Given the description of an element on the screen output the (x, y) to click on. 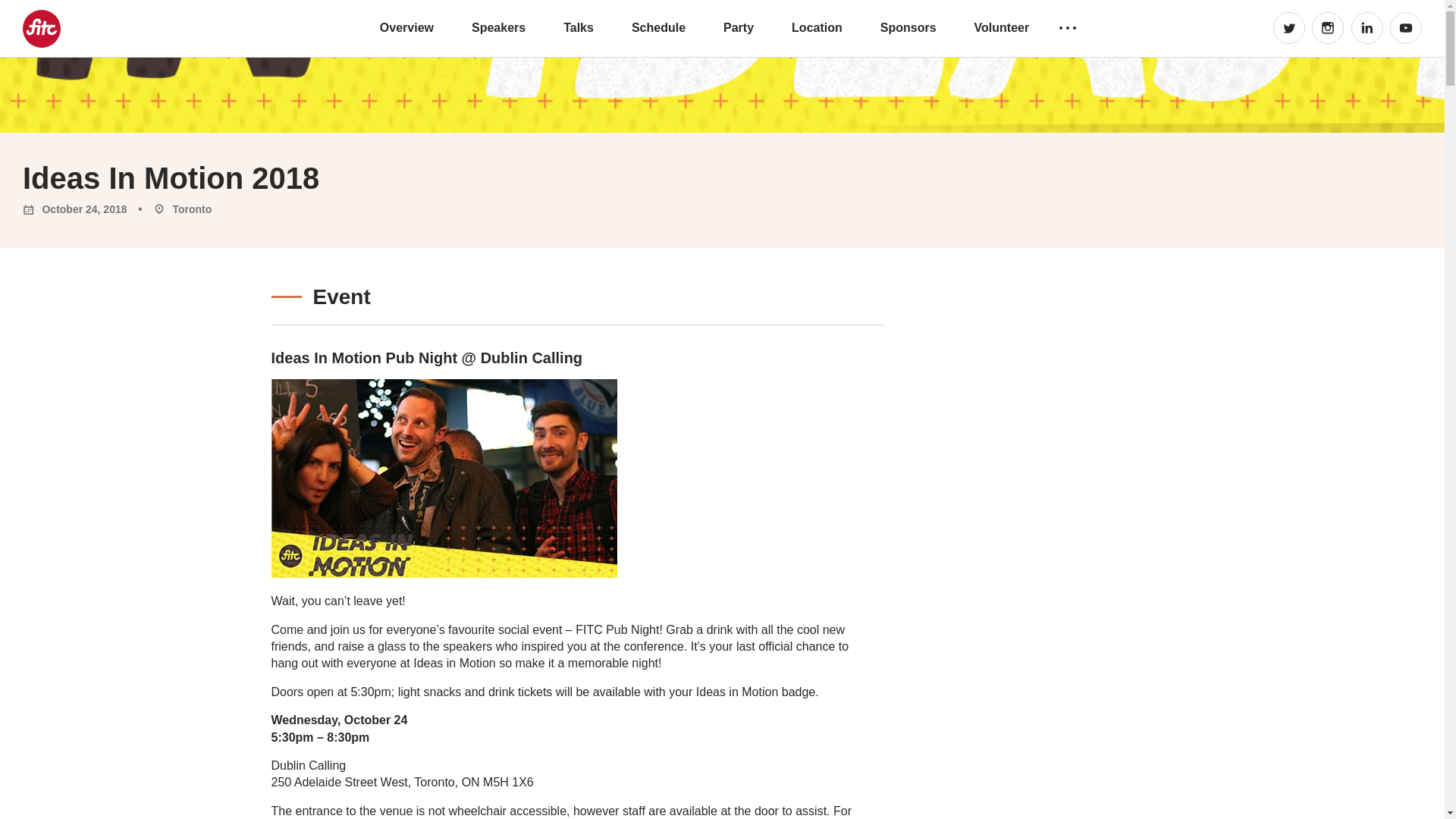
FITC (40, 27)
Talks (578, 27)
Speakers (498, 27)
instagram (1327, 28)
Overview (406, 27)
linkedin (1367, 28)
Location (817, 27)
youtube (1406, 28)
Sponsors (908, 27)
Volunteer (1001, 27)
